Given the description of an element on the screen output the (x, y) to click on. 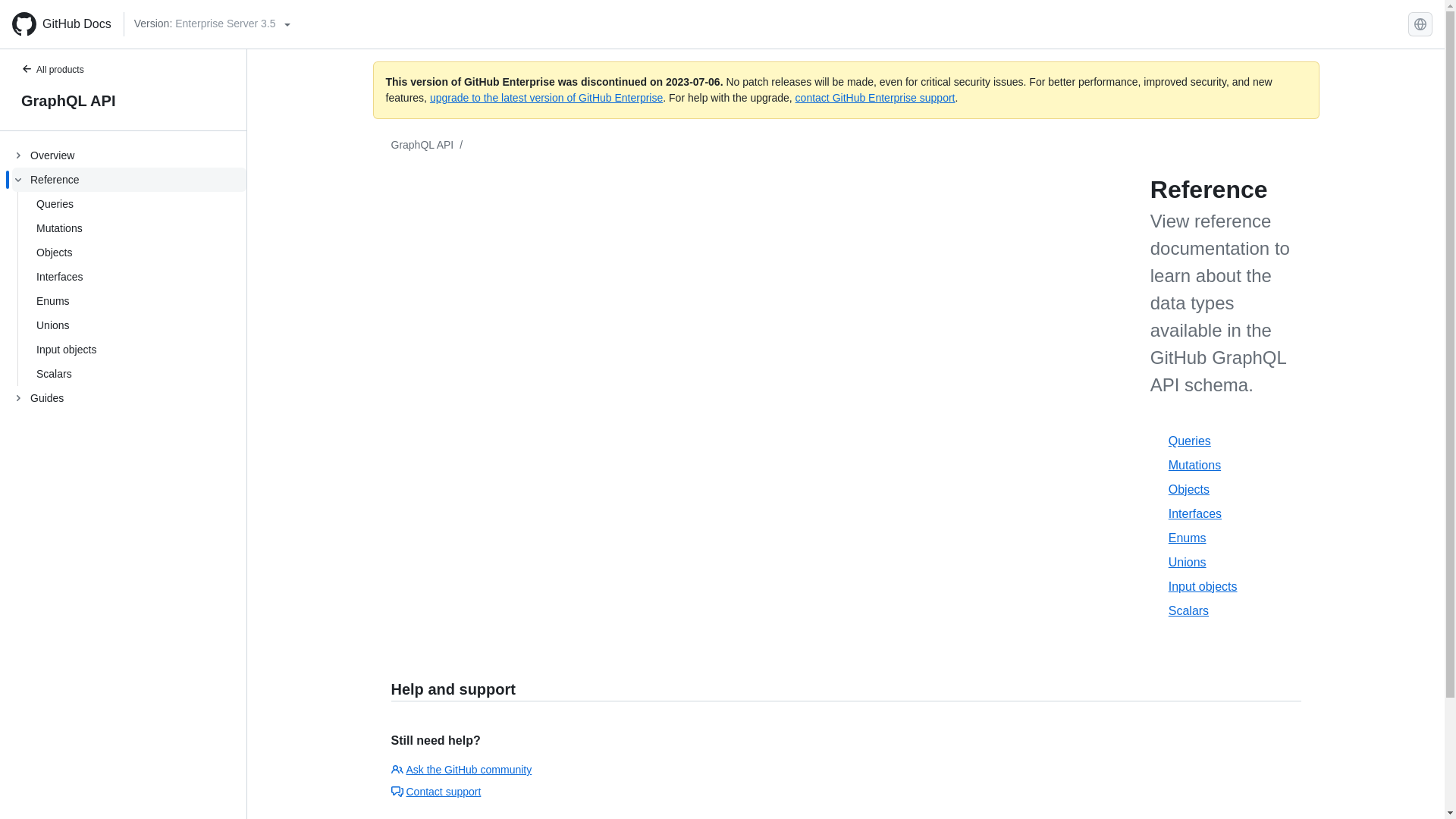
Input objects (1228, 586)
GitHub Docs (61, 24)
Scalars (1228, 610)
Ask the GitHub community (461, 769)
Objects (1228, 489)
GraphQL API (422, 144)
Queries (128, 203)
GraphQL API (122, 100)
upgrade to the latest version of GitHub Enterprise (545, 97)
Version: Enterprise Server 3.5 (212, 24)
All products (60, 70)
Unions (128, 324)
Objects (128, 252)
Unions (1228, 562)
Enums (1228, 538)
